Given the description of an element on the screen output the (x, y) to click on. 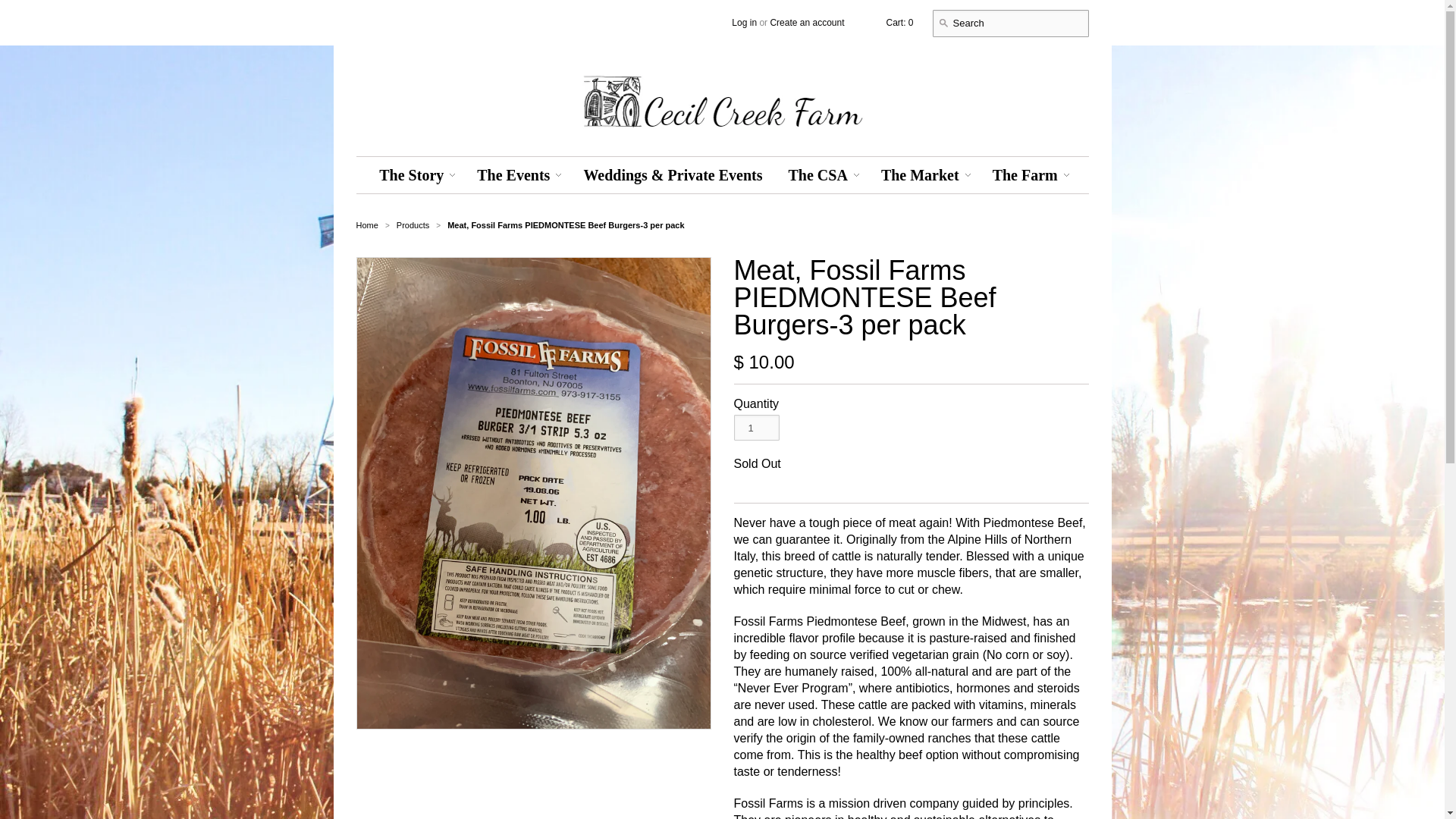
Cecil Creek Farm (367, 225)
Products (413, 225)
Create an account (807, 22)
The Market (920, 175)
Shopping Cart (898, 22)
All Products (413, 225)
Log in (744, 22)
The Farm (1024, 175)
Home (367, 225)
1 (755, 427)
The CSA (818, 175)
The Story (411, 175)
The Events (512, 175)
Cart: 0 (898, 22)
